Given the description of an element on the screen output the (x, y) to click on. 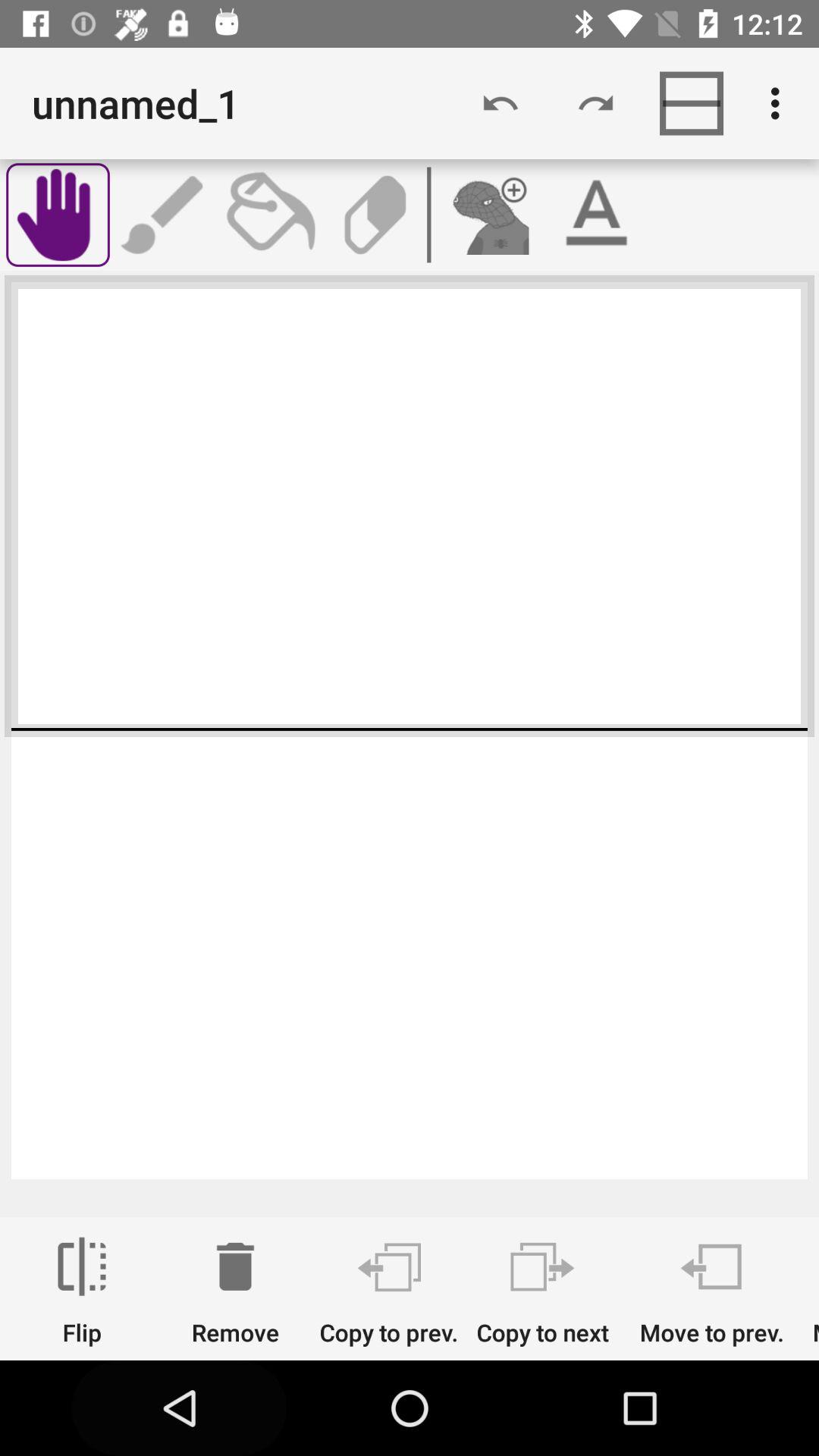
eraser erase (375, 214)
